Given the description of an element on the screen output the (x, y) to click on. 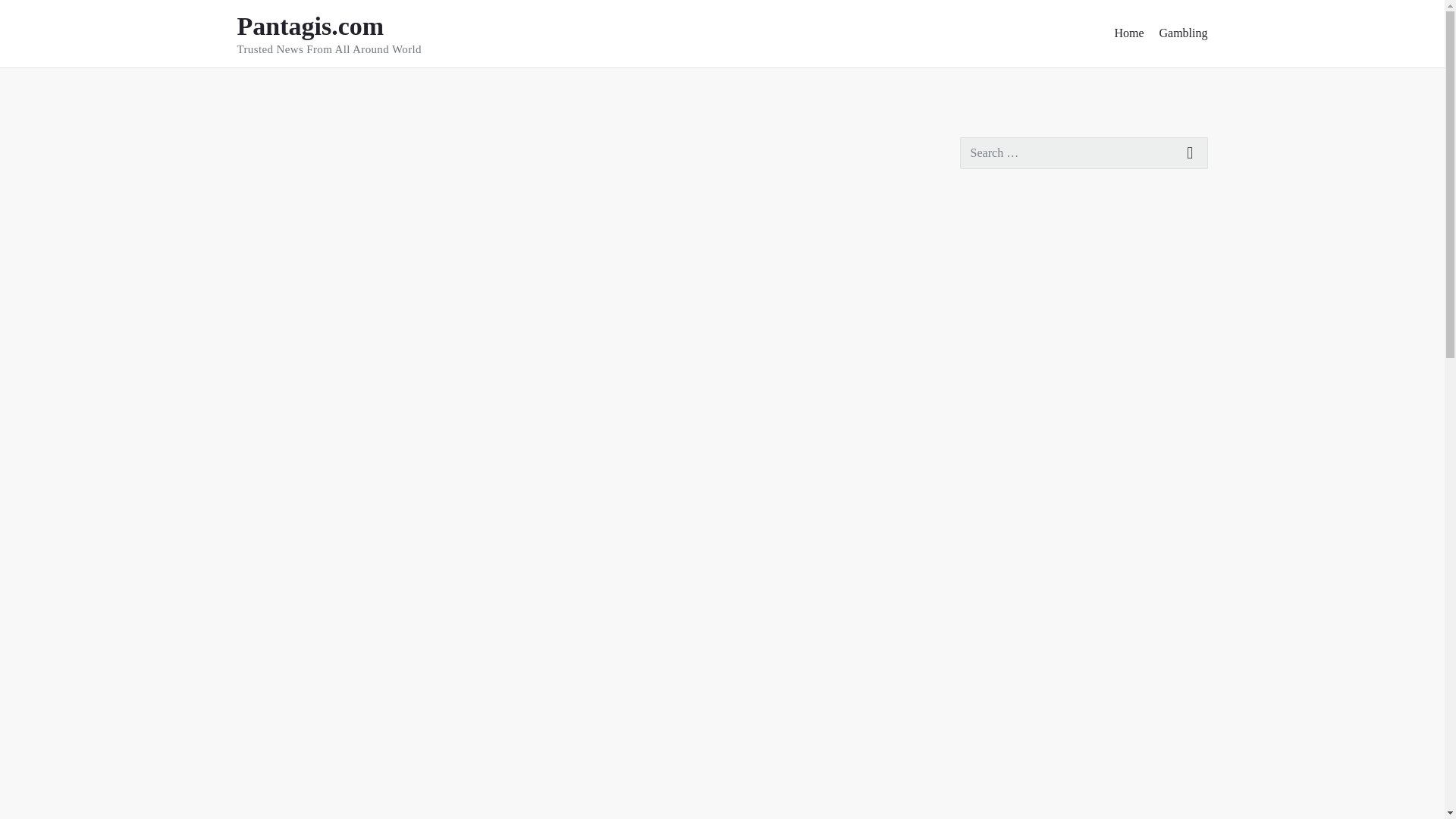
SEARCH (1190, 152)
June 2024 (349, 33)
admin (985, 317)
June 2023 (329, 145)
March 2023 (985, 707)
Friday, August 11, 2023, 1:55 am (990, 805)
Home (264, 145)
2023 (1127, 32)
August 2024 (292, 89)
